Given the description of an element on the screen output the (x, y) to click on. 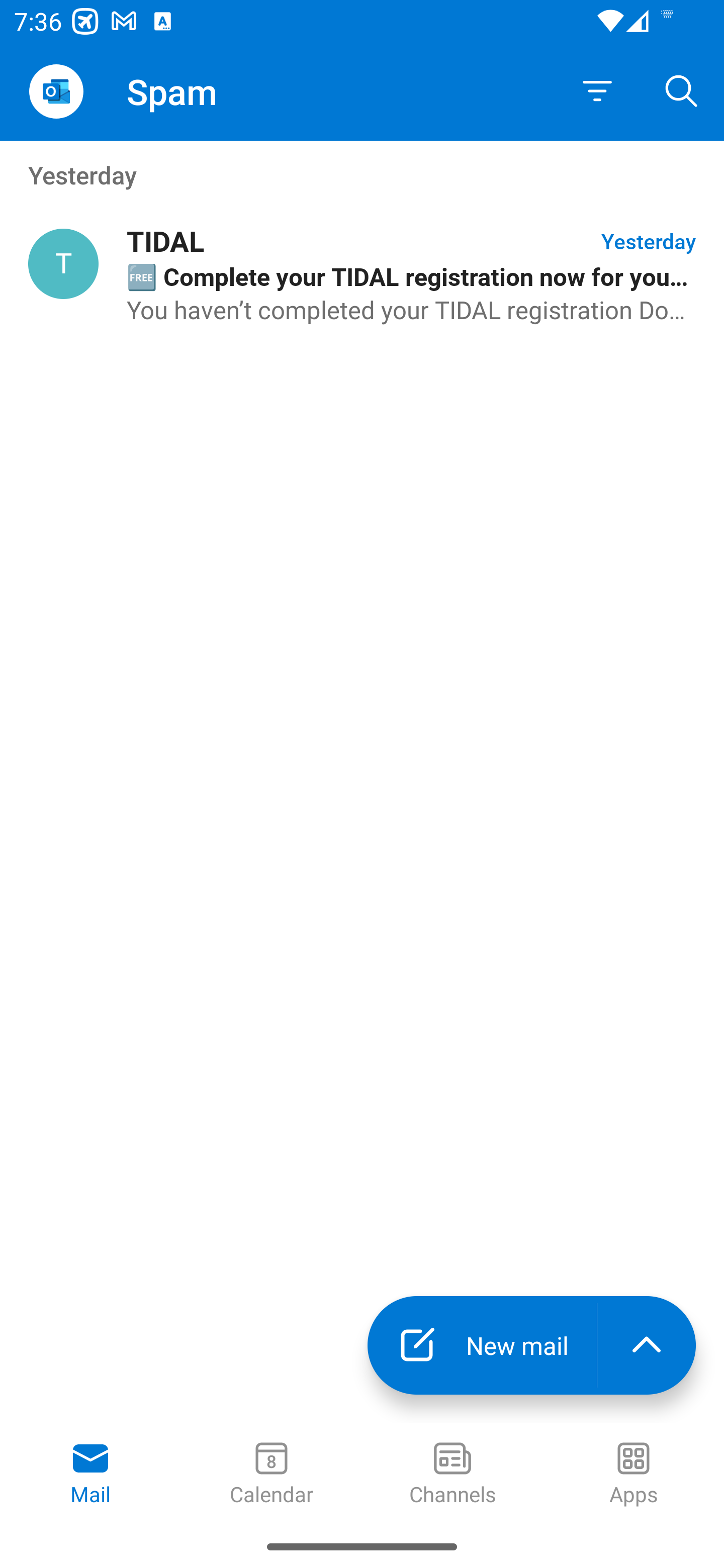
Search, ,  (681, 90)
Open Navigation Drawer (55, 91)
Filter (597, 91)
TIDAL, hello@email.tidal.com (63, 263)
New mail (481, 1344)
launch the extended action menu (646, 1344)
Calendar (271, 1474)
Channels (452, 1474)
Apps (633, 1474)
